Given the description of an element on the screen output the (x, y) to click on. 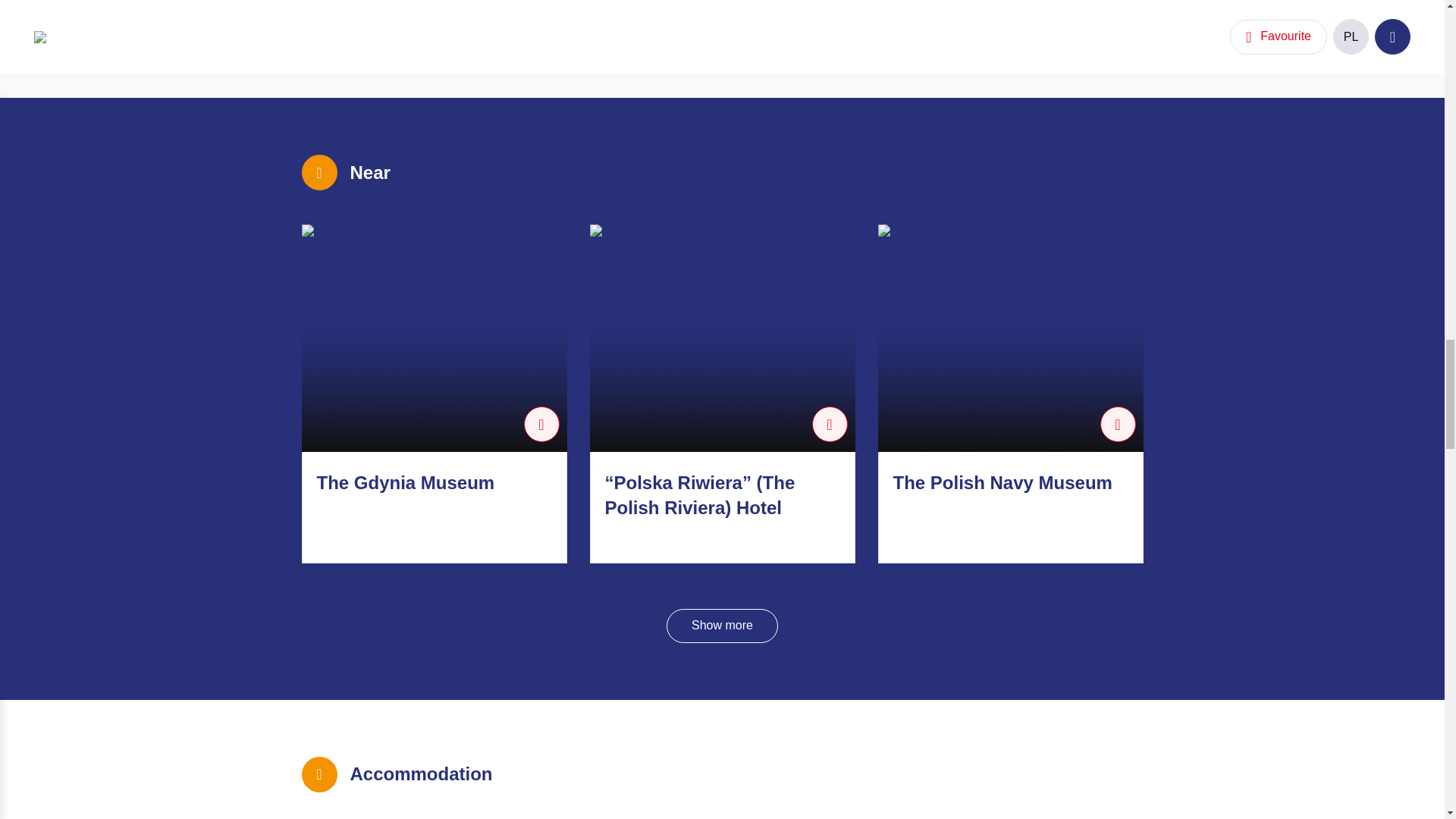
The Gdynia Museum (406, 482)
The Polish Navy Museum (1002, 482)
Show more (721, 625)
